Given the description of an element on the screen output the (x, y) to click on. 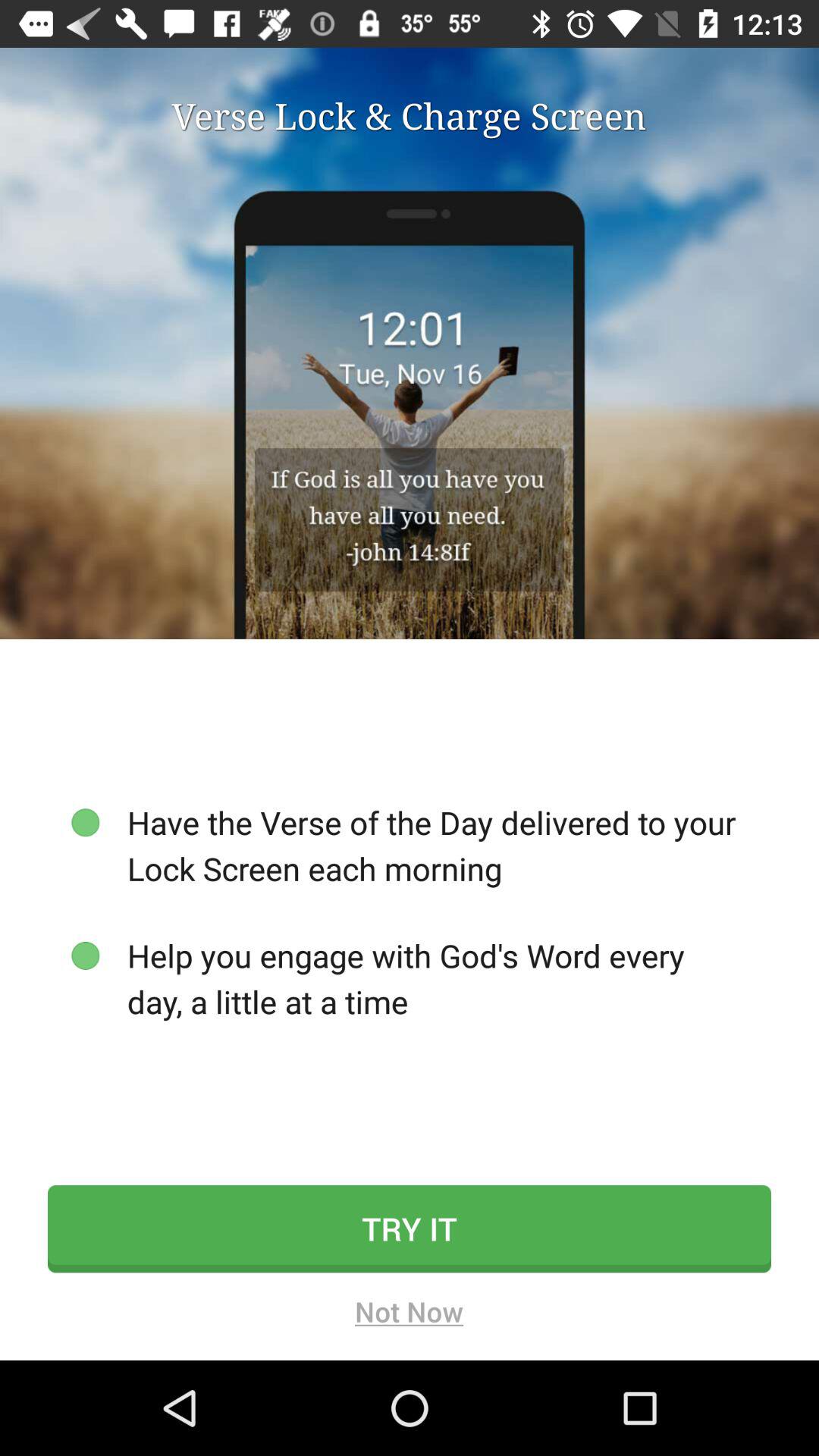
press not now item (408, 1316)
